Given the description of an element on the screen output the (x, y) to click on. 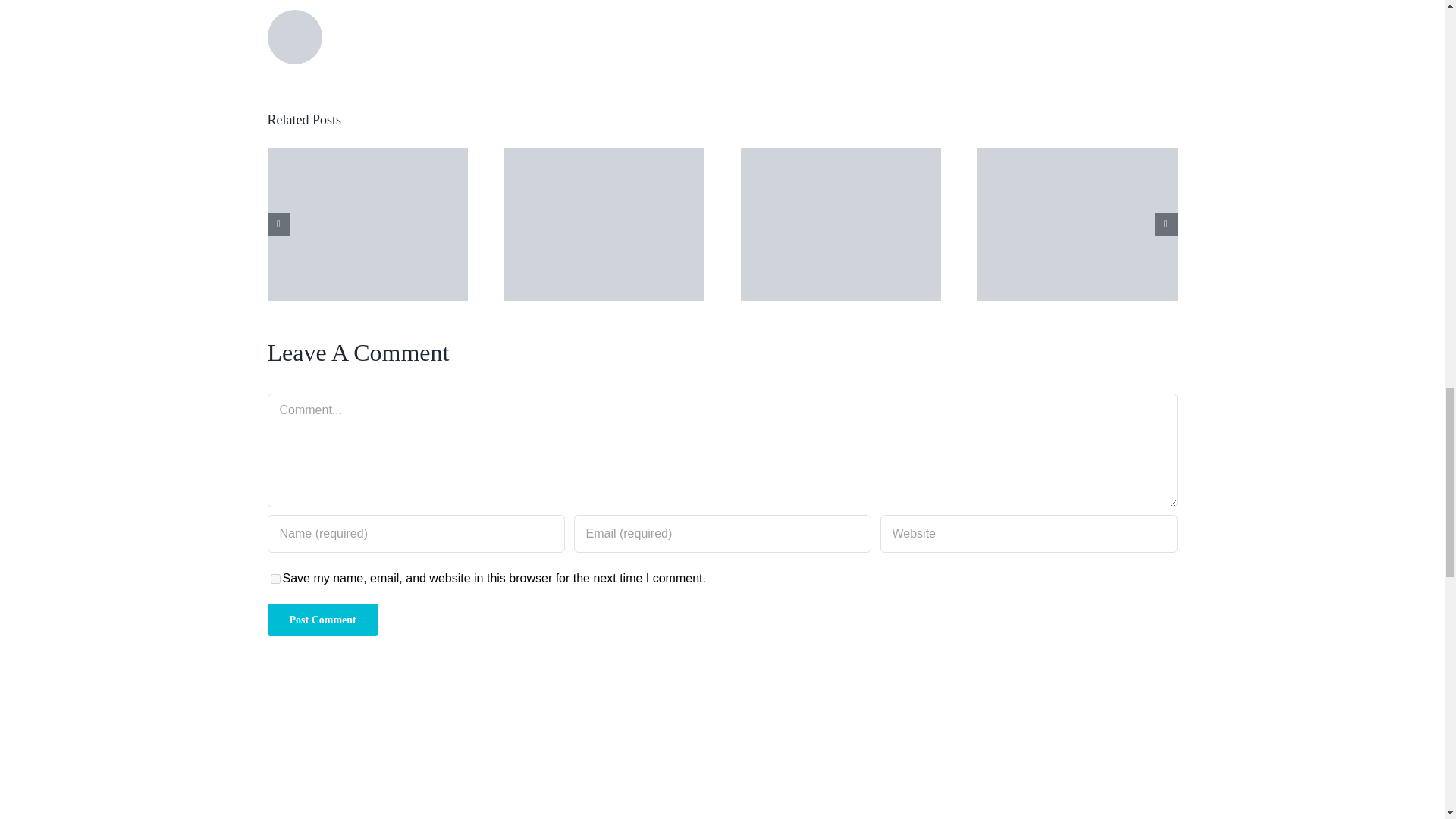
yes (274, 578)
Post Comment (321, 619)
